Given the description of an element on the screen output the (x, y) to click on. 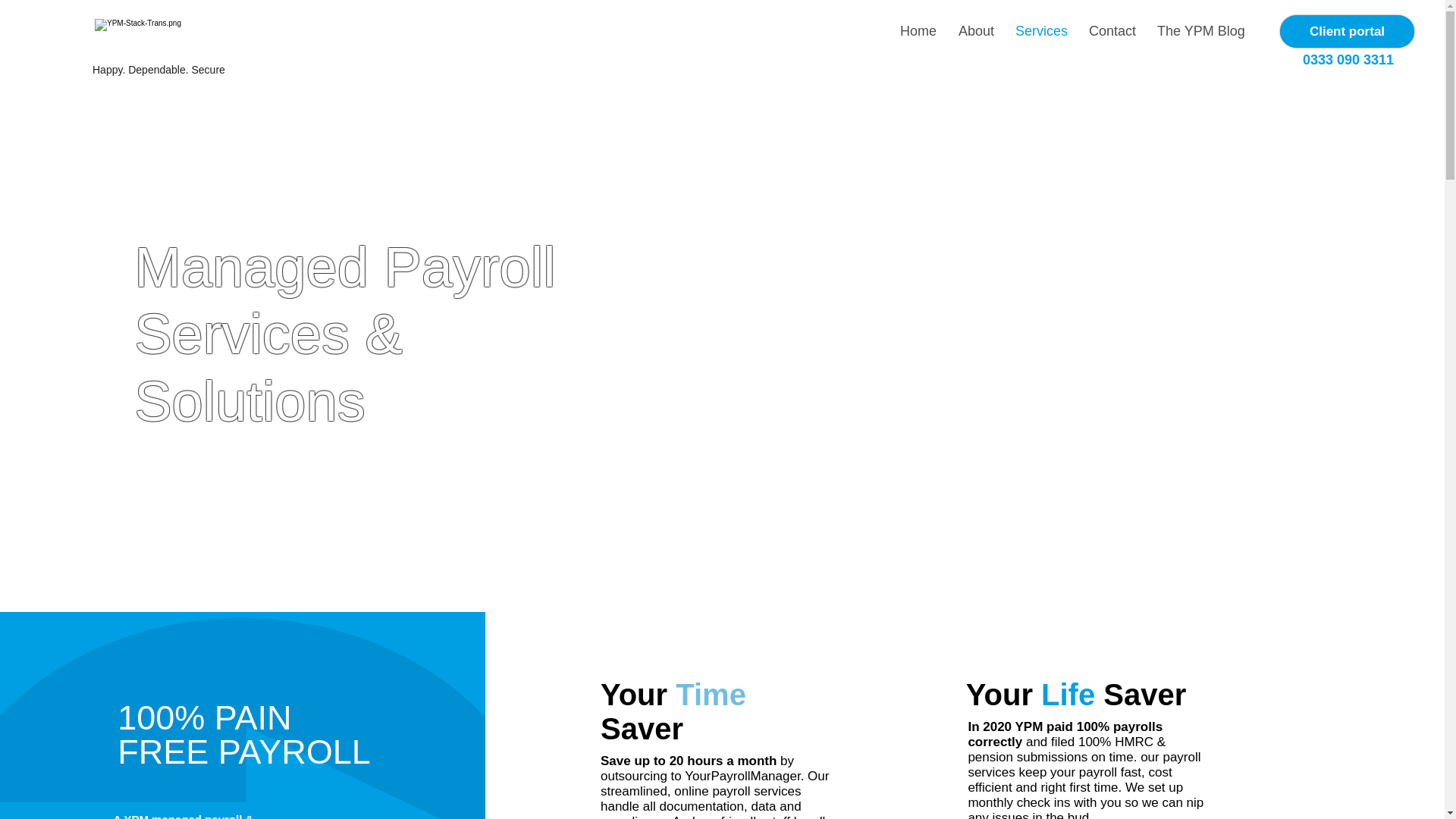
Home (921, 31)
Contact (1115, 31)
The YPM Blog (1204, 31)
Services (1044, 31)
About (978, 31)
Client portal (1346, 31)
